Given the description of an element on the screen output the (x, y) to click on. 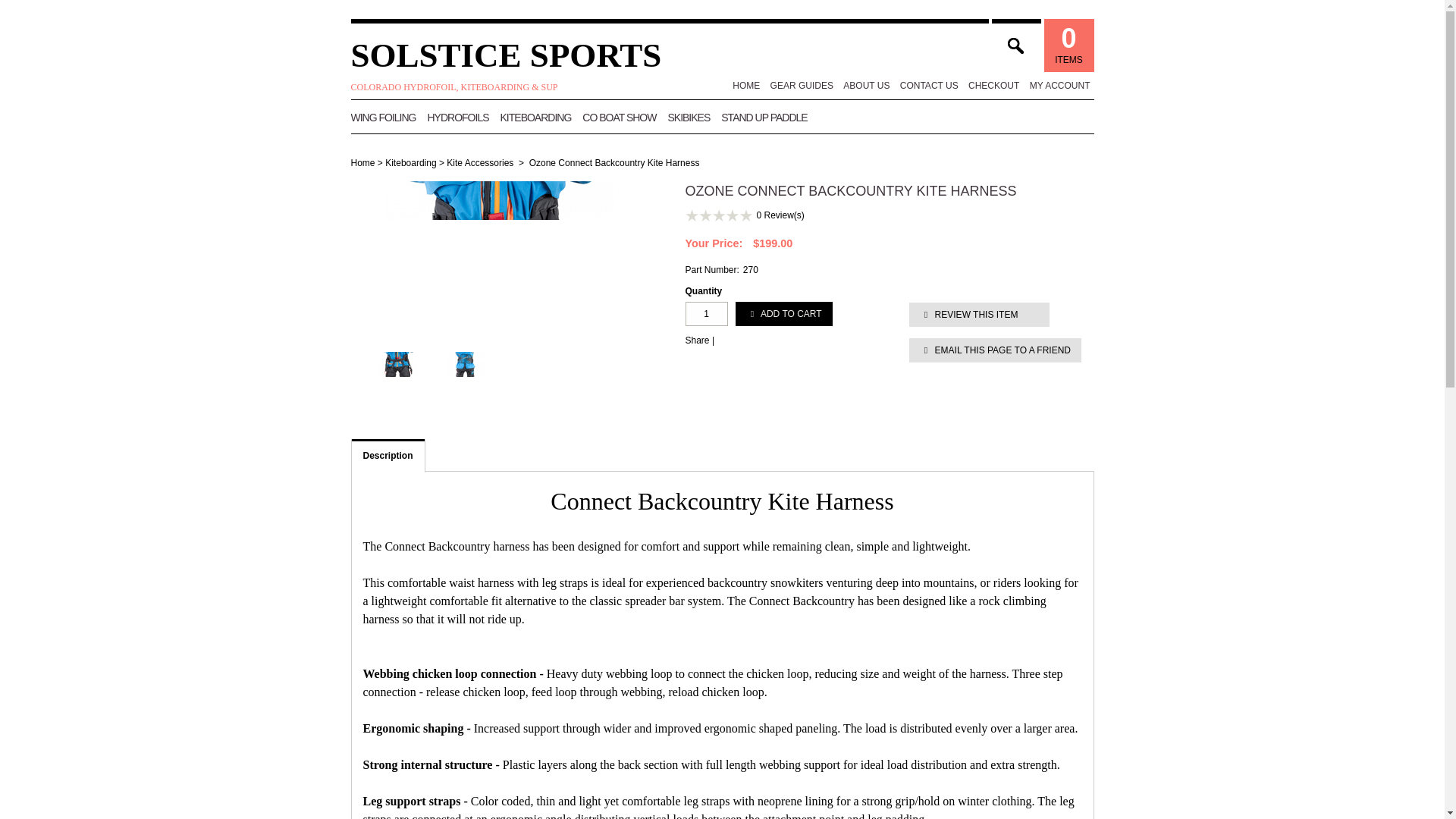
KITEBOARDING (536, 117)
Kite Accessories (479, 163)
HYDROFOILS (458, 117)
CONTACT US (929, 85)
EMAIL THIS PAGE TO A FRIEND (994, 350)
1 (706, 313)
CO BOAT SHOW (619, 117)
SKIBIKES (688, 117)
Share (697, 339)
CHECKOUT (993, 85)
